Given the description of an element on the screen output the (x, y) to click on. 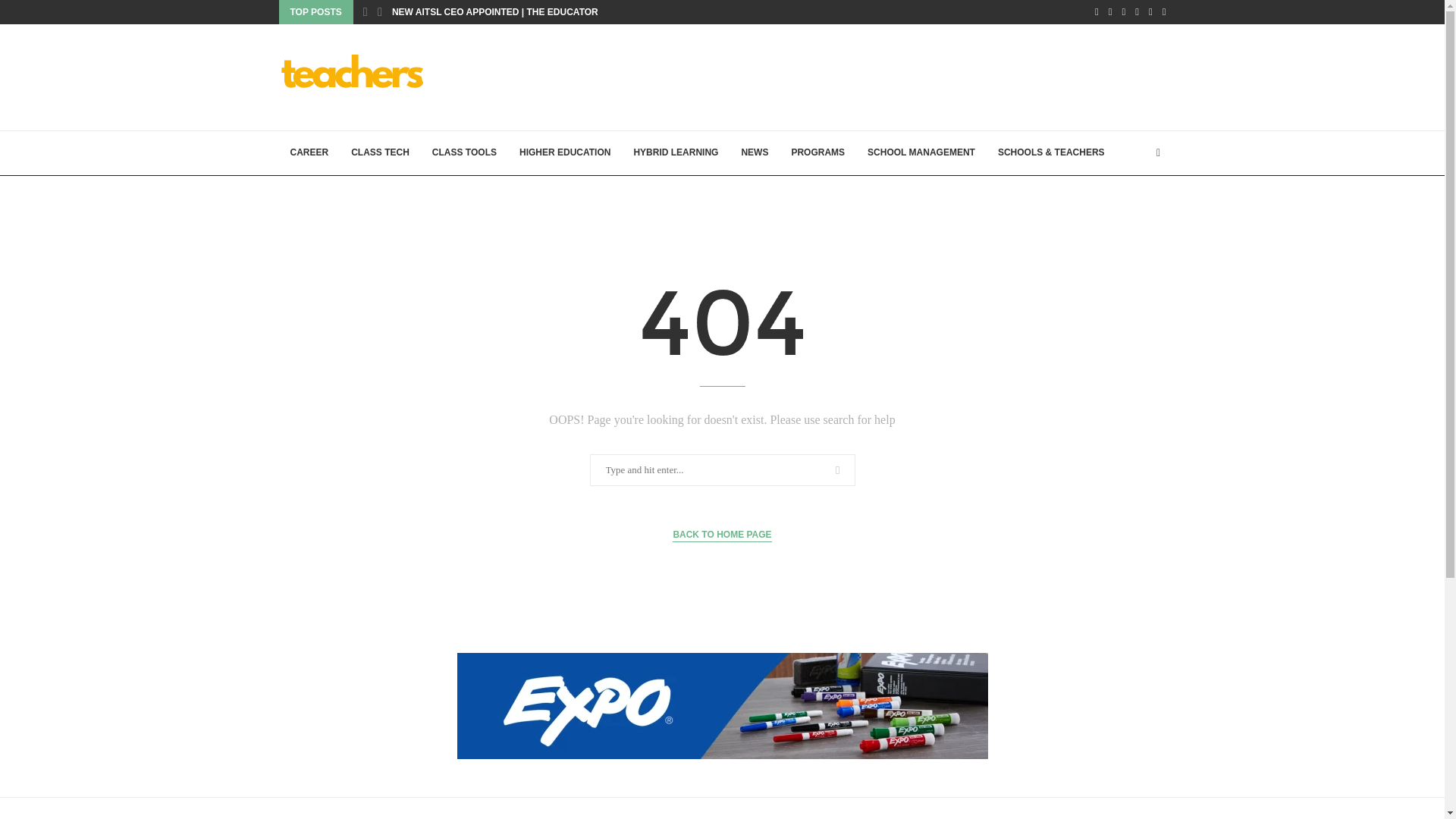
SCHOOL MANAGEMENT (921, 153)
NEWS (753, 153)
HYBRID LEARNING (675, 153)
CLASS TOOLS (464, 153)
CLASS TECH (379, 153)
PROGRAMS (817, 153)
CAREER (309, 153)
HIGHER EDUCATION (564, 153)
